Given the description of an element on the screen output the (x, y) to click on. 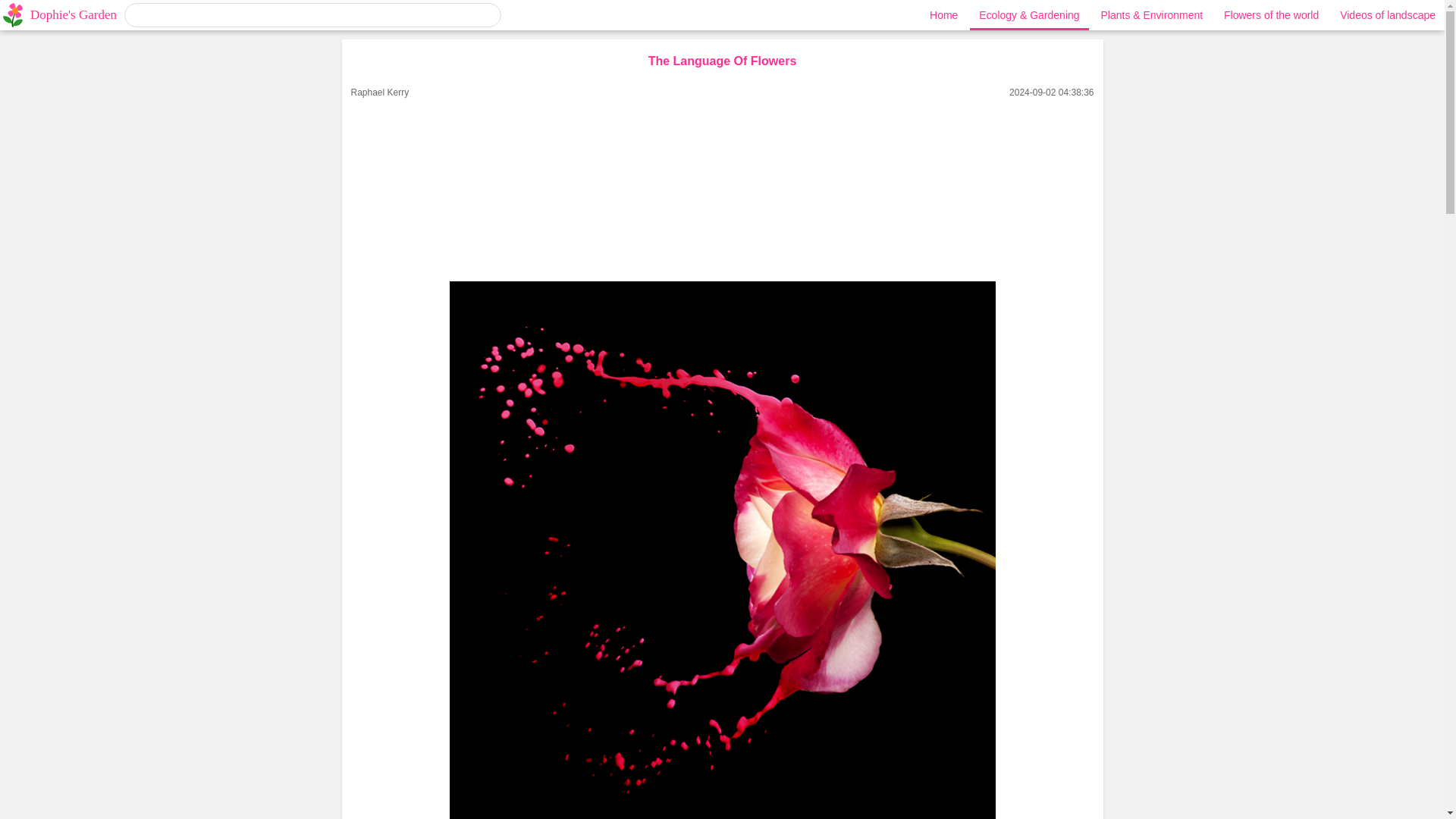
Home (943, 15)
Advertisement (721, 186)
Flowers of the world (1270, 15)
